Given the description of an element on the screen output the (x, y) to click on. 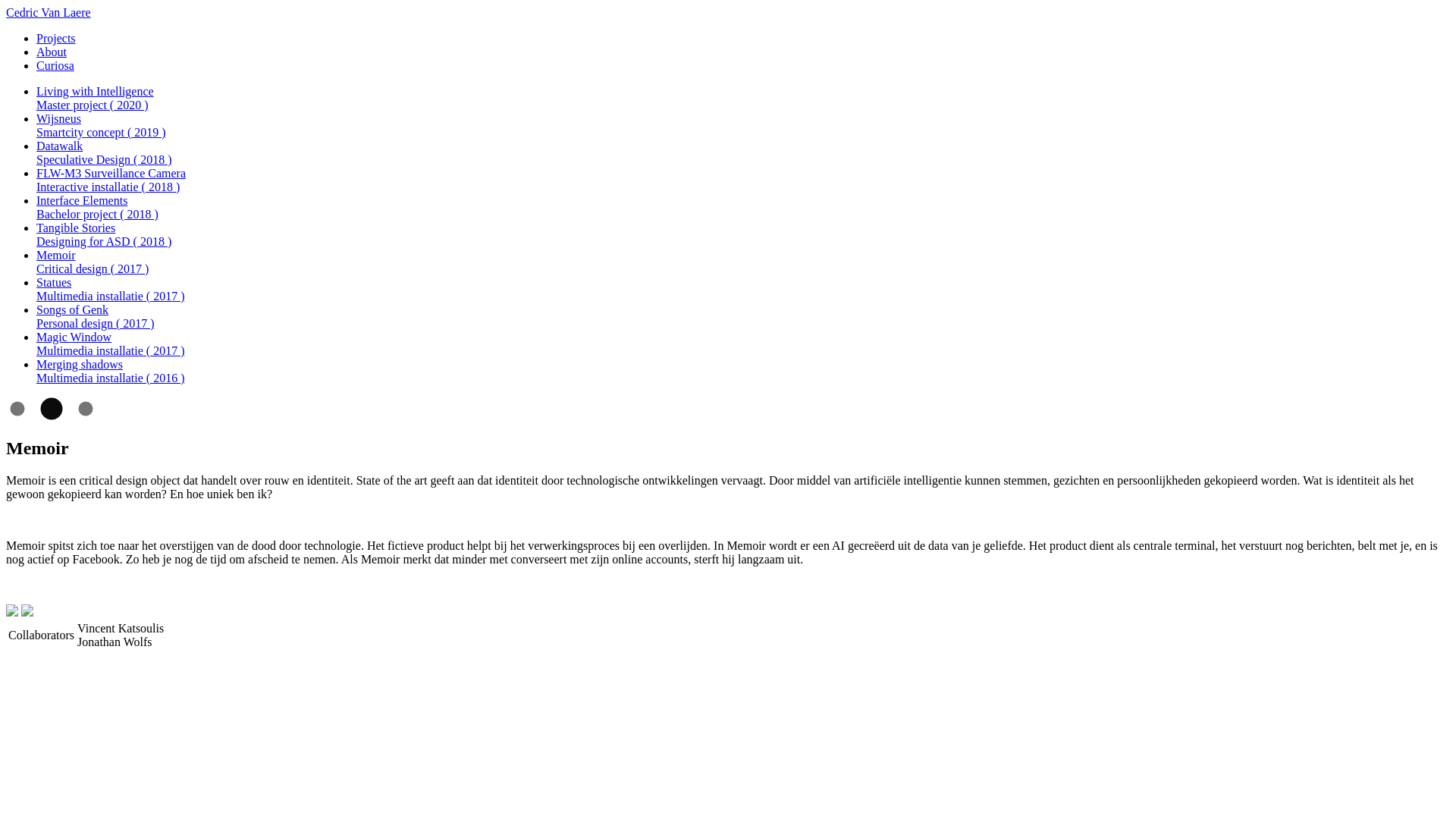
Living with Intelligence Element type: text (94, 90)
Memoir Element type: text (55, 254)
Songs of Genk Element type: text (72, 309)
Projects Element type: text (55, 37)
Curiosa Element type: text (55, 65)
Personal design ( 2017 ) Element type: text (95, 322)
Tangible Stories Element type: text (75, 227)
Interactive installatie ( 2018 ) Element type: text (107, 186)
Statues Element type: text (53, 282)
Datawalk Element type: text (59, 145)
Interface Elements Element type: text (81, 200)
Critical design ( 2017 ) Element type: text (92, 268)
FLW-M3 Surveillance Camera Element type: text (110, 172)
Multimedia installatie ( 2017 ) Element type: text (110, 350)
Wijsneus Element type: text (58, 118)
Merging shadows Element type: text (79, 363)
Cedric Van Laere Element type: text (48, 12)
Multimedia installatie ( 2016 ) Element type: text (110, 377)
Bachelor project ( 2018 ) Element type: text (97, 213)
Smartcity concept ( 2019 ) Element type: text (101, 131)
About Element type: text (51, 51)
Magic Window Element type: text (73, 336)
Speculative Design ( 2018 ) Element type: text (104, 159)
Multimedia installatie ( 2017 ) Element type: text (110, 295)
Master project ( 2020 ) Element type: text (92, 104)
Designing for ASD ( 2018 ) Element type: text (103, 241)
